Given the description of an element on the screen output the (x, y) to click on. 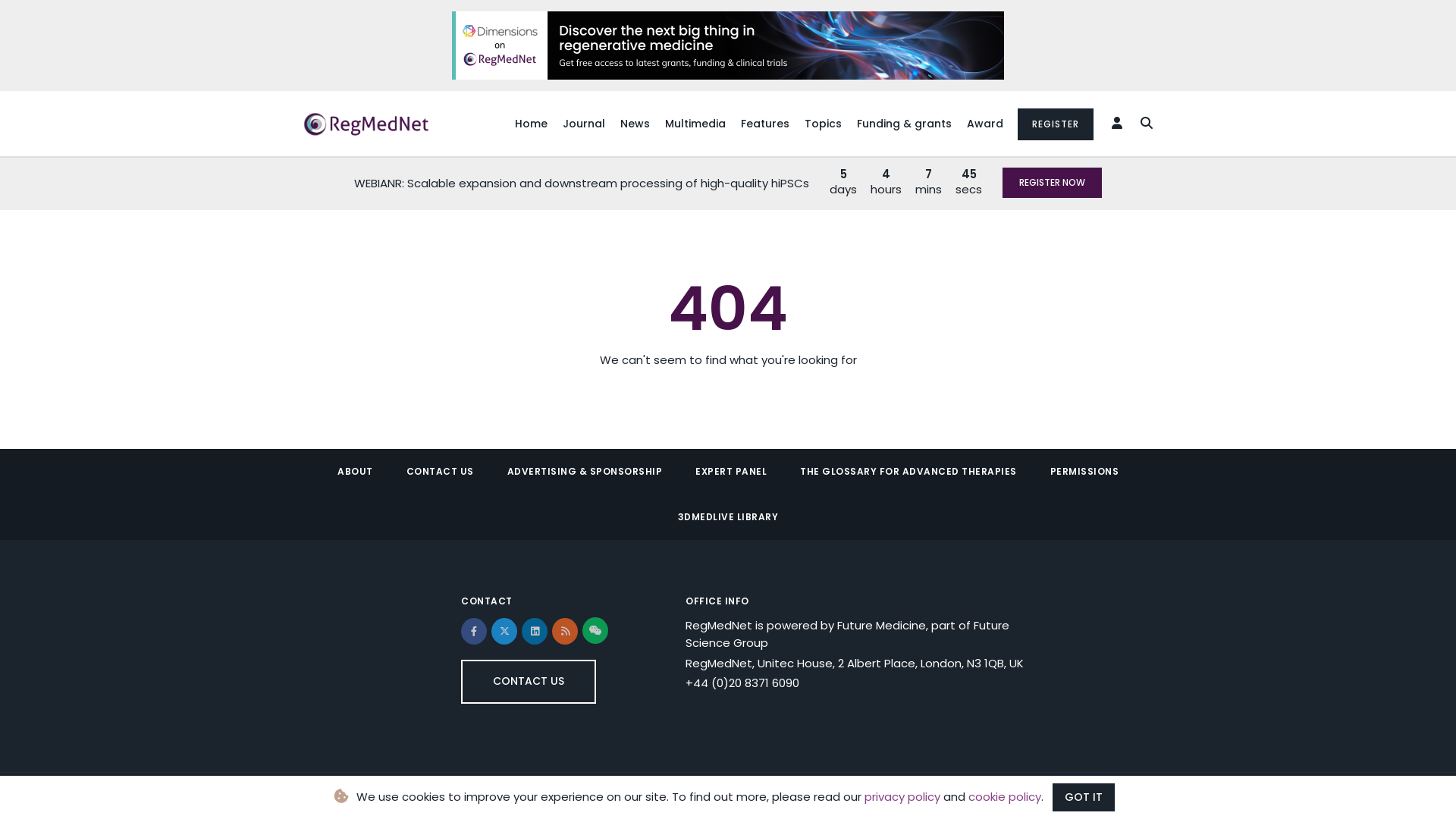
Features Element type: text (765, 123)
Future Science Group Element type: text (847, 633)
cookie policy Element type: text (1004, 796)
CONTACT US Element type: text (528, 681)
REGISTER NOW Element type: text (1051, 182)
Funding & grants Element type: text (904, 123)
ADVERTISING & SPONSORSHIP Element type: text (584, 471)
Topics Element type: text (823, 123)
REGISTER Element type: text (1055, 124)
GOT IT Element type: text (1083, 797)
EXPERT PANEL Element type: text (730, 471)
CONTACT US Element type: text (439, 471)
Award Element type: text (984, 123)
3DMEDLIVE LIBRARY Element type: text (727, 516)
privacy policy Element type: text (902, 796)
ABOUT Element type: text (355, 471)
Multimedia Element type: text (695, 123)
Future Medicine Element type: text (881, 625)
PERMISSIONS Element type: text (1083, 471)
+44 (0)20 8371 6090 Element type: text (742, 682)
News Element type: text (634, 123)
Home Element type: text (531, 123)
Journal Element type: text (583, 123)
THE GLOSSARY FOR ADVANCED THERAPIES Element type: text (908, 471)
